Given the description of an element on the screen output the (x, y) to click on. 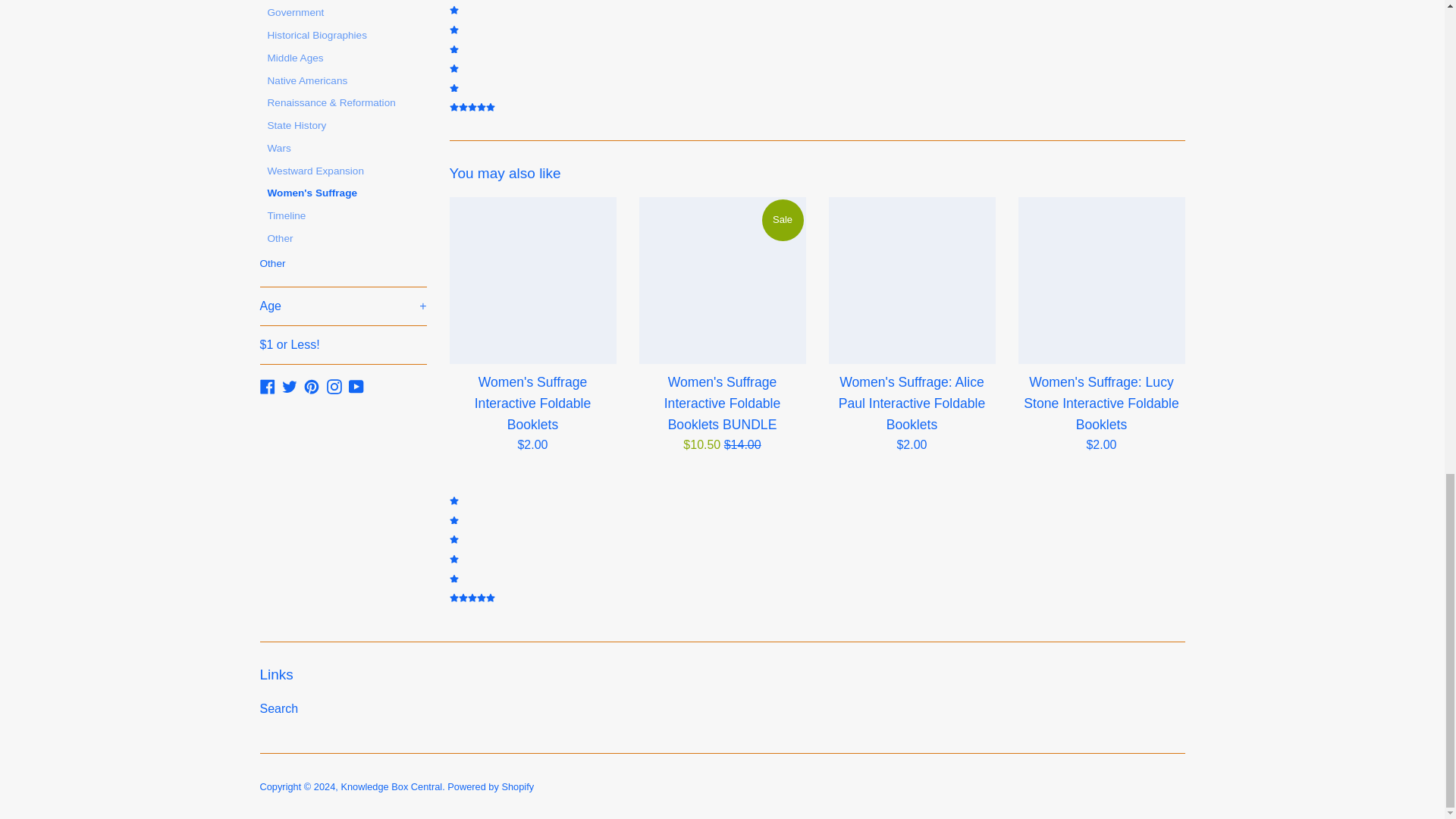
Women's Suffrage: Lucy Stone Interactive Foldable Booklets (1101, 280)
Knowledge Box Central on Pinterest (311, 386)
Women's Suffrage Interactive Foldable Booklets BUNDLE (722, 280)
Women's Suffrage: Alice Paul Interactive Foldable Booklets (911, 280)
Knowledge Box Central on Facebook (267, 386)
Knowledge Box Central on YouTube (356, 386)
Women's Suffrage Interactive Foldable Booklets (531, 280)
Knowledge Box Central on Instagram (334, 386)
Knowledge Box Central on Twitter (289, 386)
